Given the description of an element on the screen output the (x, y) to click on. 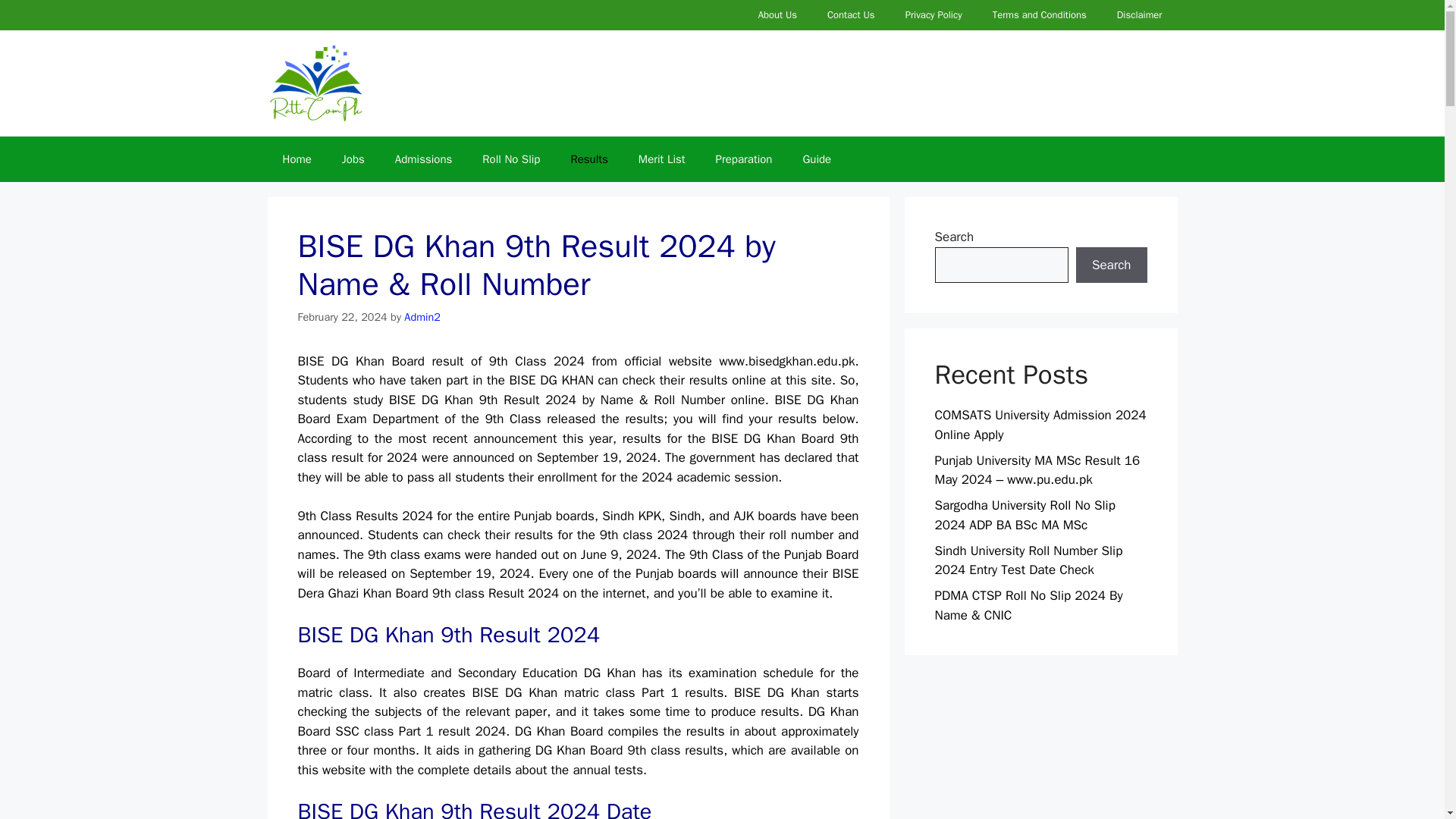
Sargodha University Roll No Slip 2024 ADP BA BSc MA MSc (1024, 515)
Terms and Conditions (1039, 15)
Merit List (661, 158)
Admin2 (422, 316)
Roll No Slip (510, 158)
Results (588, 158)
Search (1111, 265)
Admissions (423, 158)
Preparation (743, 158)
View all posts by Admin2 (422, 316)
